Given the description of an element on the screen output the (x, y) to click on. 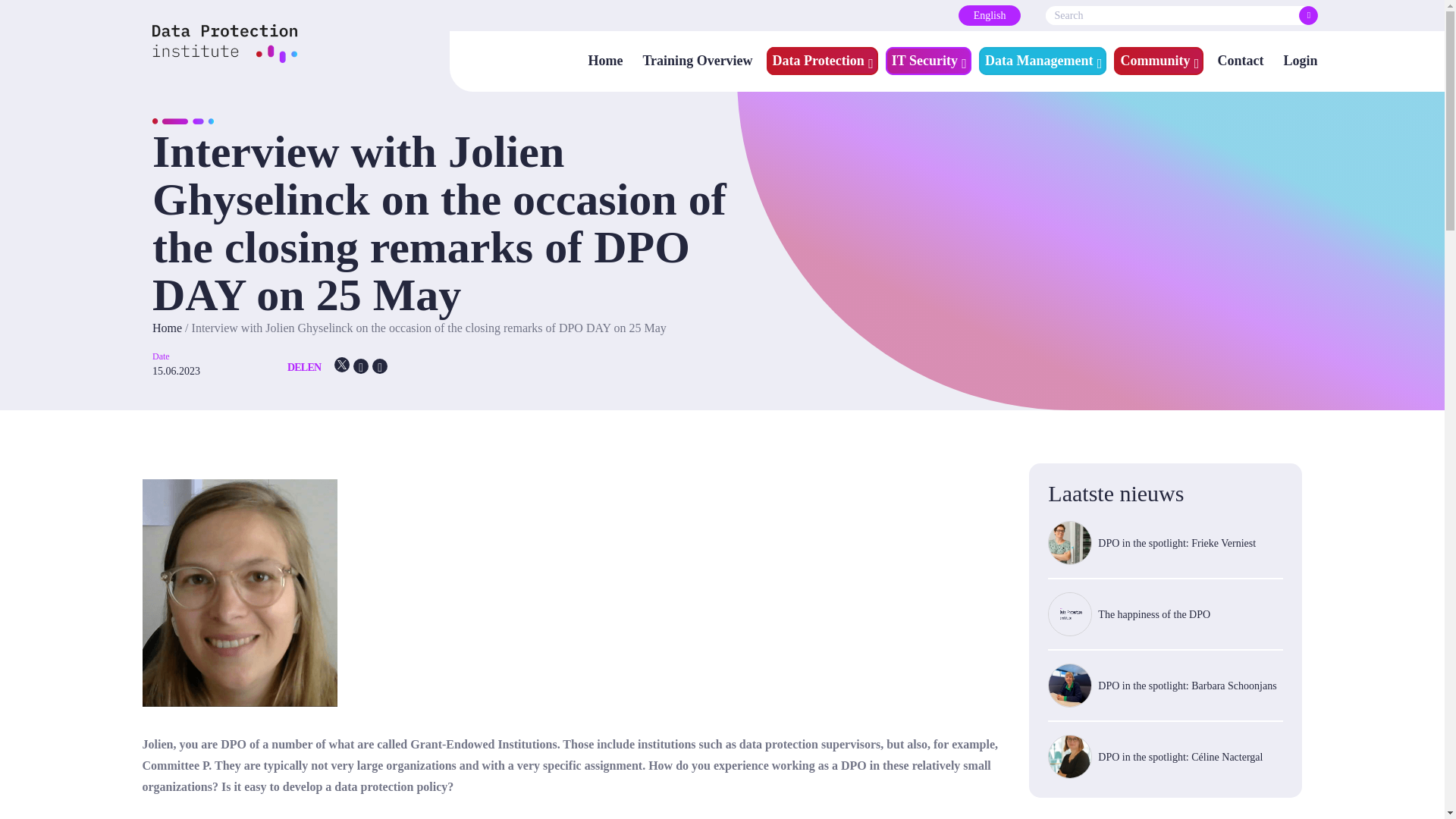
IT Security (924, 60)
English (990, 14)
Data Management (1038, 60)
Home (604, 59)
English (990, 14)
Data Protection (818, 60)
Training Overview (697, 59)
